Given the description of an element on the screen output the (x, y) to click on. 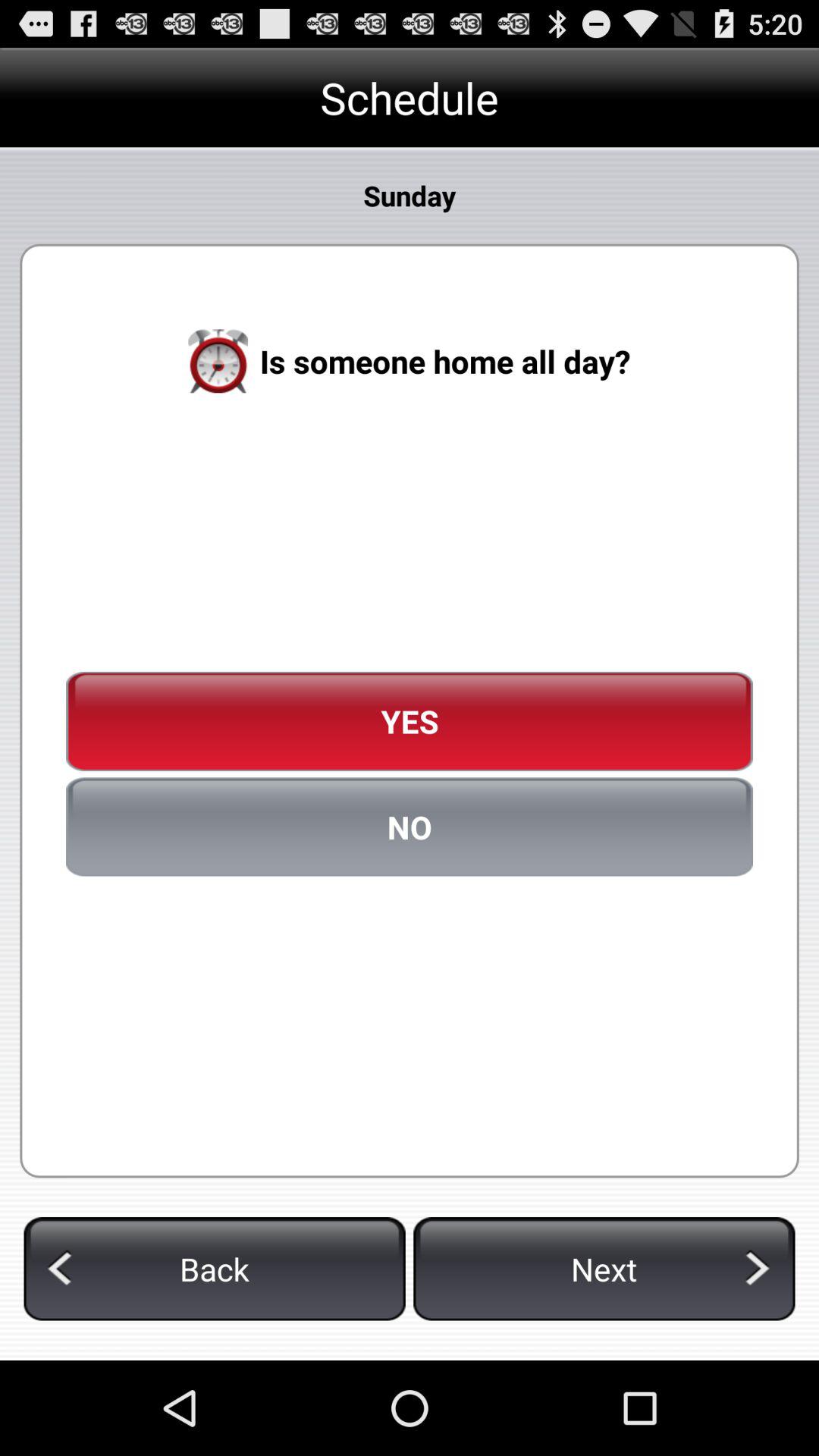
flip to the next button (604, 1268)
